Given the description of an element on the screen output the (x, y) to click on. 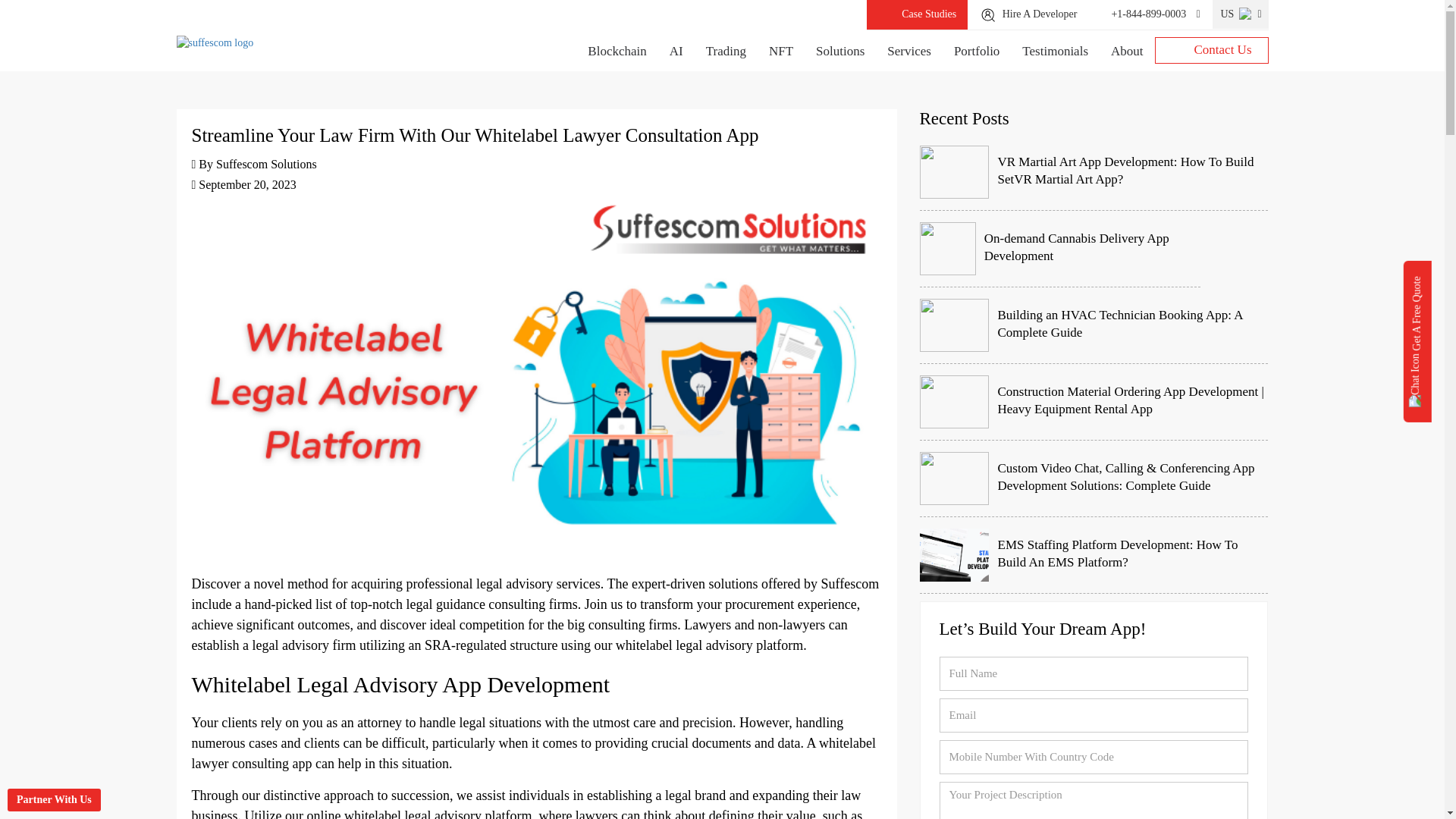
Building an HVAC Technician Booking App: A Complete Guide (1093, 325)
On-demand Cannabis Delivery App Development (1058, 248)
